Given the description of an element on the screen output the (x, y) to click on. 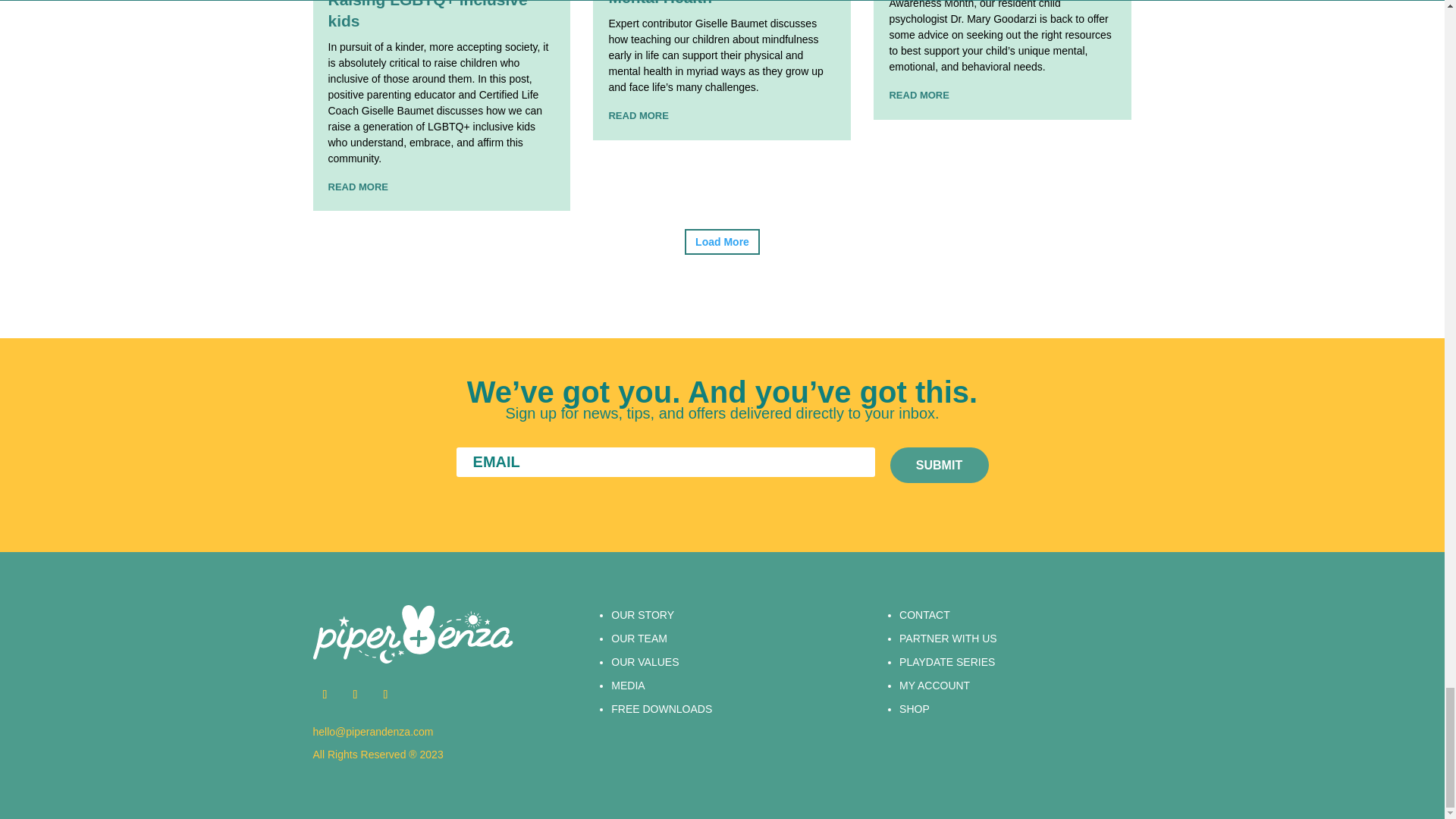
Follow on RSS (384, 694)
Group 22 (412, 634)
Follow on Facebook (354, 694)
Follow on Instagram (324, 694)
